Given the description of an element on the screen output the (x, y) to click on. 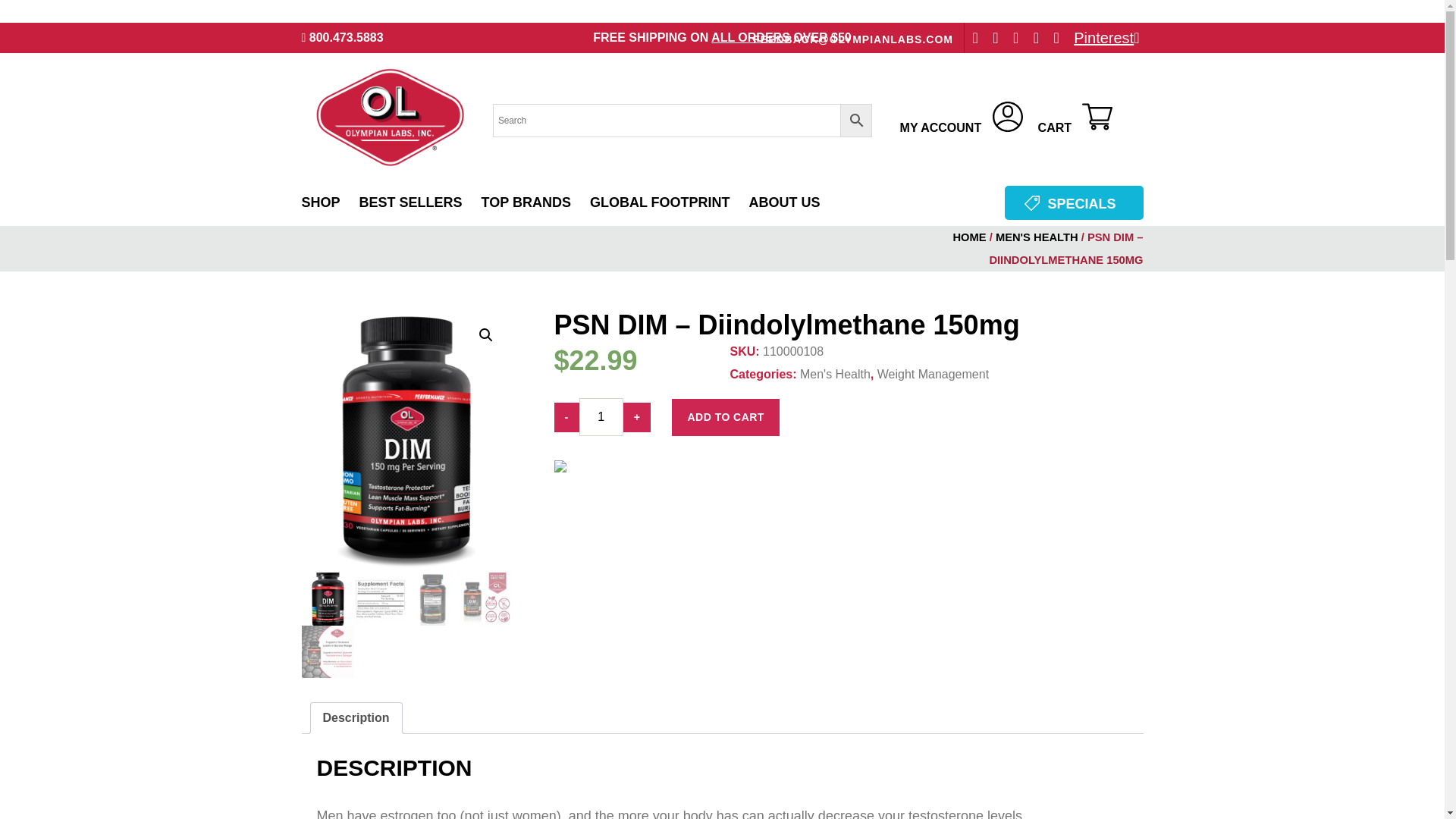
MY ACCOUNT (961, 120)
BEST SELLERS (411, 202)
SHOP (320, 202)
Pinterest (1106, 37)
TOP BRANDS (525, 202)
1 (601, 416)
CART (1075, 120)
Qty (601, 416)
Pinterest (1106, 37)
